Given the description of an element on the screen output the (x, y) to click on. 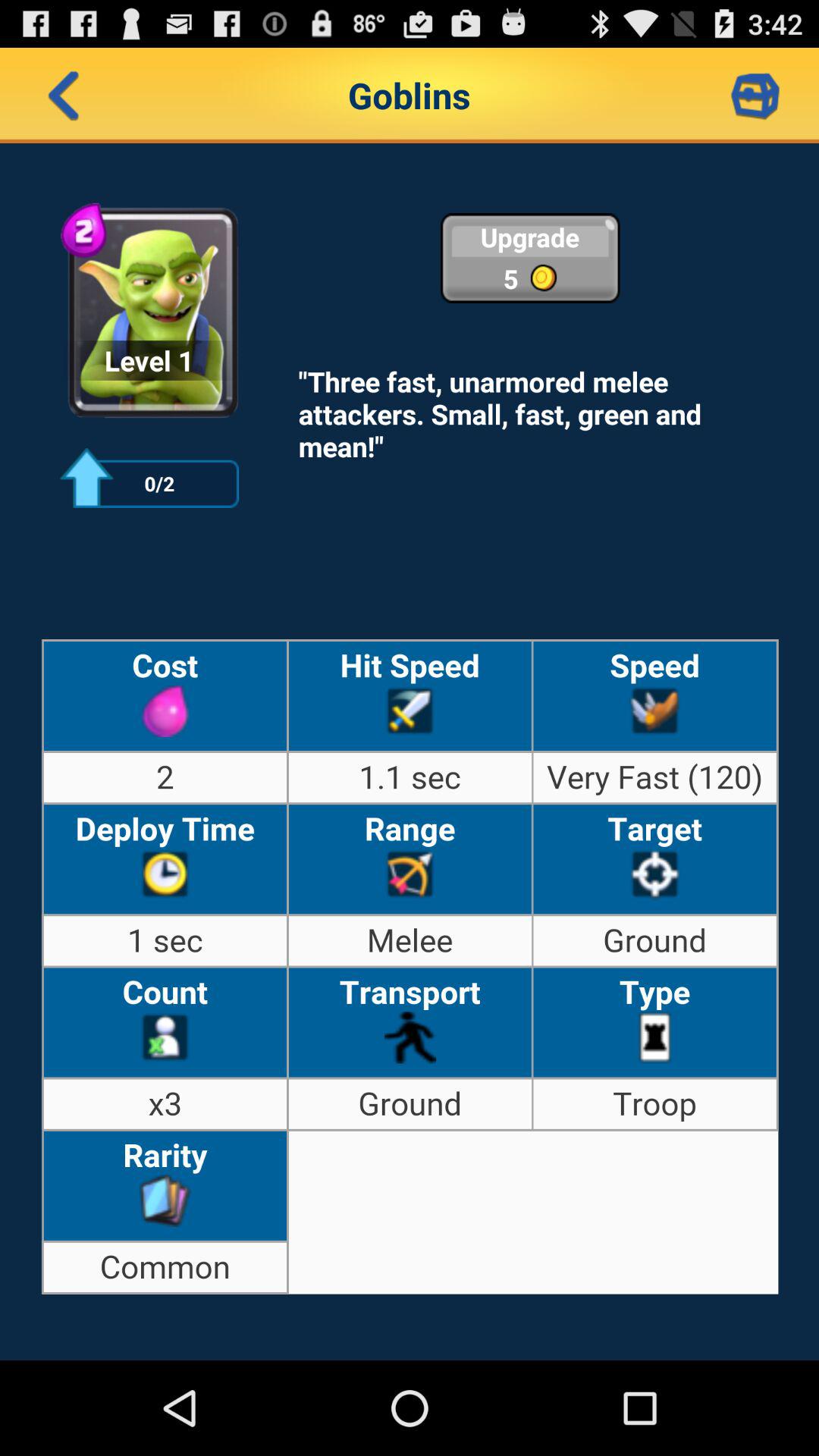
go back (63, 95)
